Given the description of an element on the screen output the (x, y) to click on. 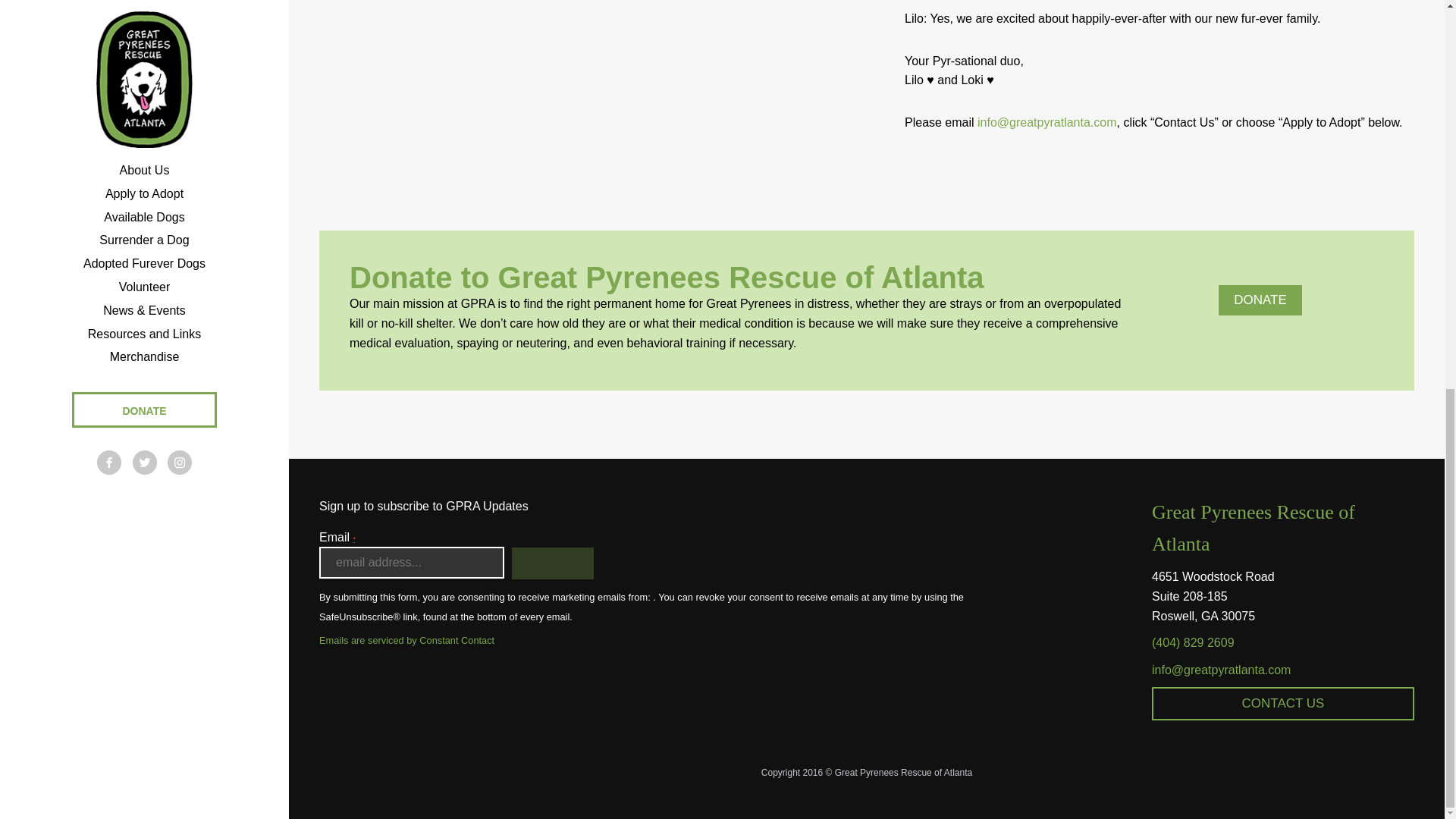
Sign up (553, 563)
Sign up (553, 563)
Emails are serviced by Constant Contact (645, 640)
CONTACT US (1282, 703)
DONATE (1259, 300)
